Given the description of an element on the screen output the (x, y) to click on. 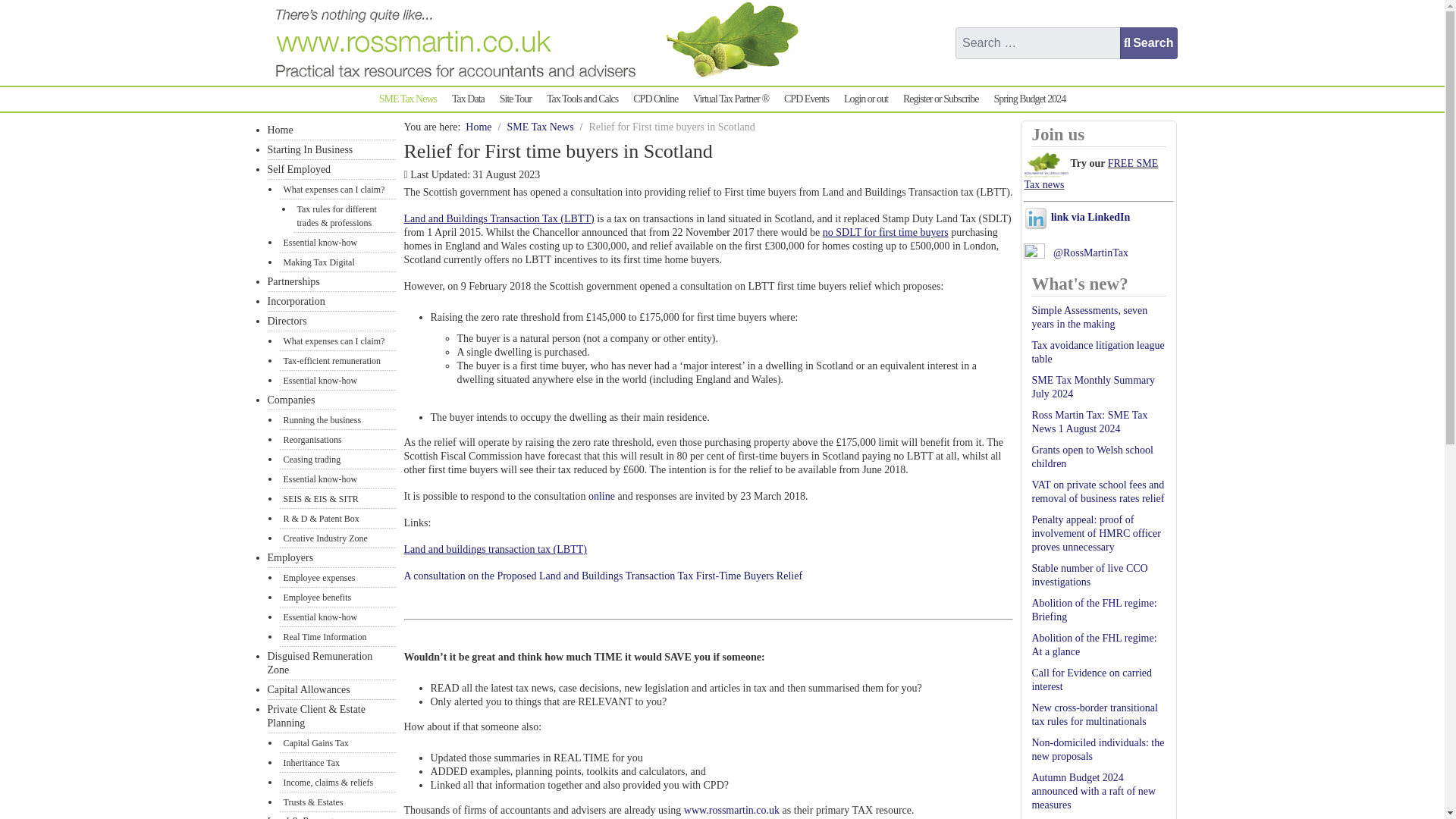
Employers (331, 557)
Site Tour (515, 98)
Disguised Remuneration Zone (331, 663)
Ceasing trading (337, 459)
Essential know-how (337, 617)
Spring Budget 2024 (1029, 98)
Creative Industry Zone (337, 537)
Employee benefits (337, 597)
Search (1147, 42)
Tax Data (467, 98)
